Given the description of an element on the screen output the (x, y) to click on. 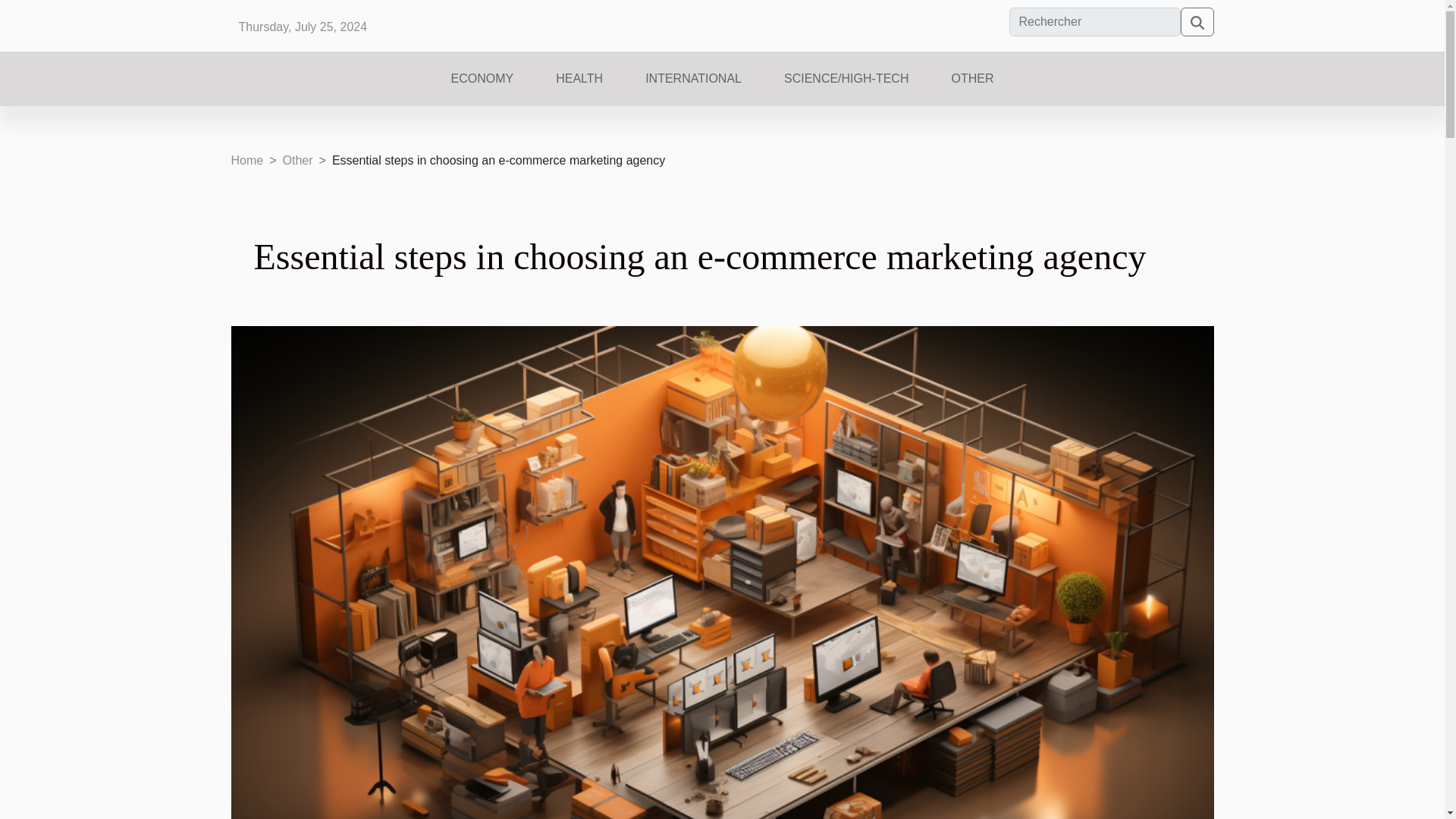
ECONOMY (482, 84)
Other (297, 160)
INTERNATIONAL (693, 84)
Other (297, 160)
HEALTH (579, 84)
OTHER (971, 84)
Home (246, 160)
